Given the description of an element on the screen output the (x, y) to click on. 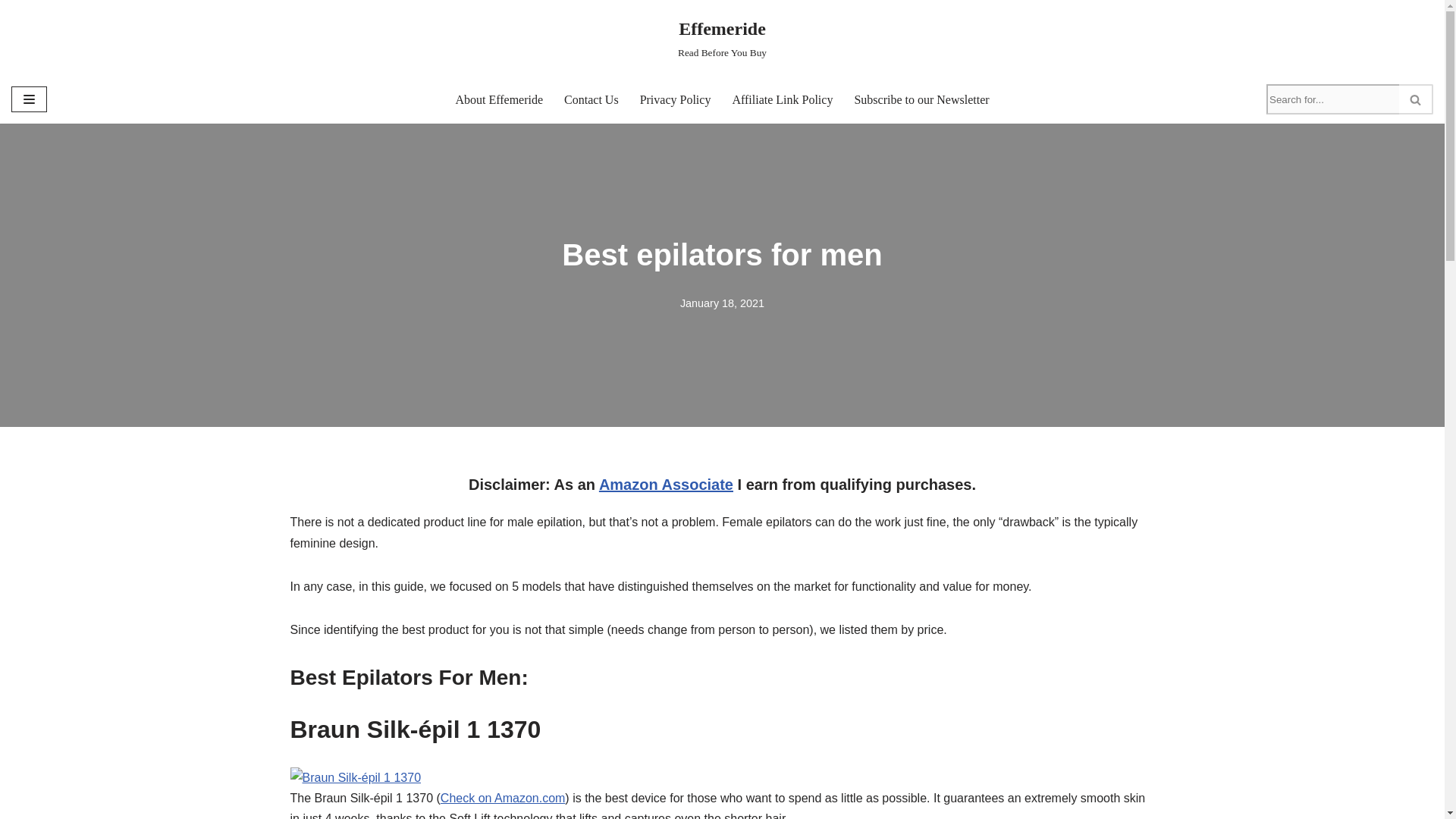
Contact Us (591, 99)
Skip to content (11, 31)
Navigation Menu (28, 99)
Subscribe to our Newsletter (920, 99)
Affiliate Link Policy (782, 99)
Check on Amazon.com (503, 797)
About Effemeride (498, 99)
Amazon Associate (665, 484)
Privacy Policy (722, 37)
